Given the description of an element on the screen output the (x, y) to click on. 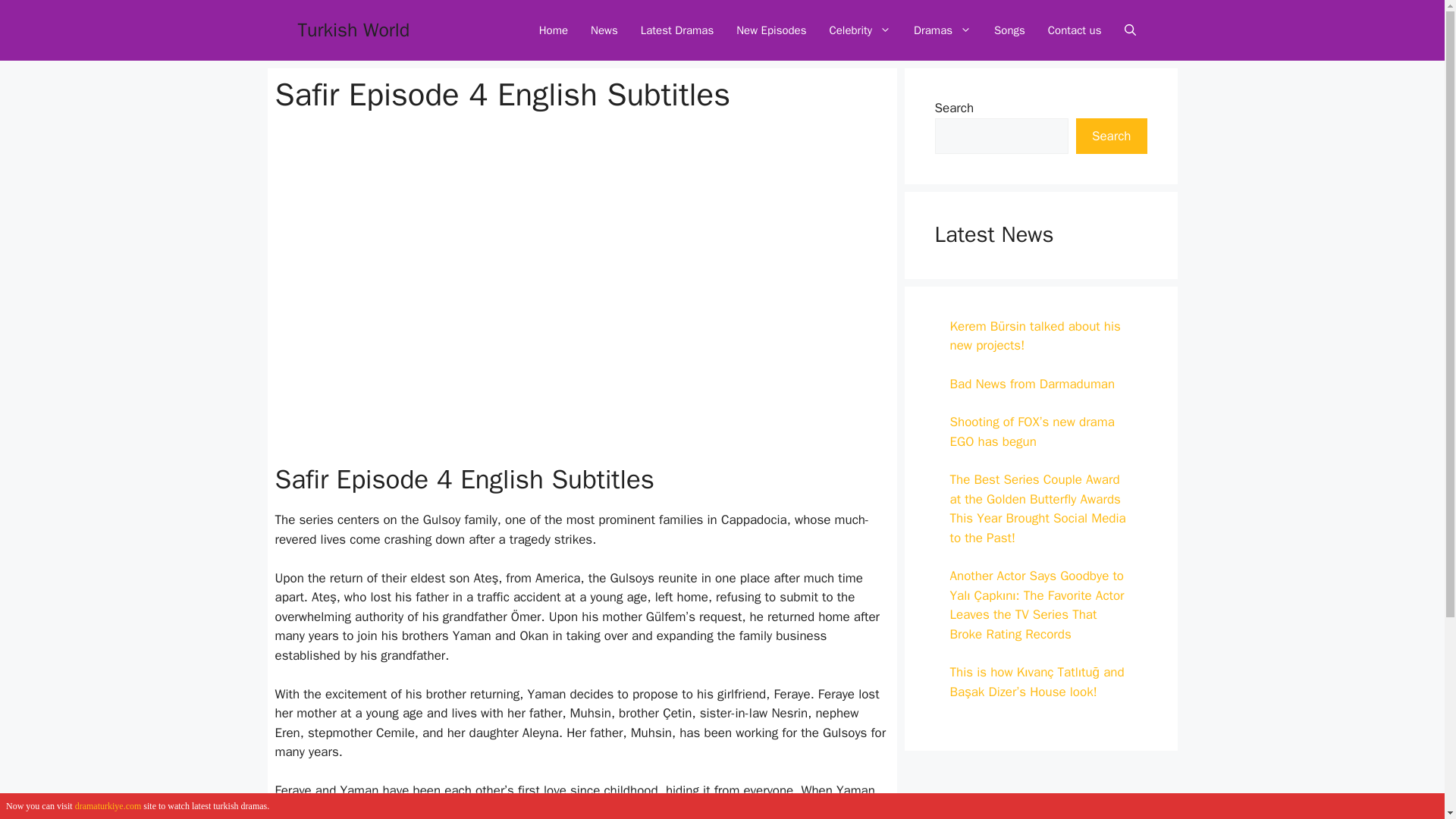
Contact us (1074, 30)
Celebrity (859, 30)
Dramas (942, 30)
Home (553, 30)
Turkish World (353, 29)
New Episodes (770, 30)
Songs (1009, 30)
Latest Dramas (676, 30)
News (603, 30)
